Given the description of an element on the screen output the (x, y) to click on. 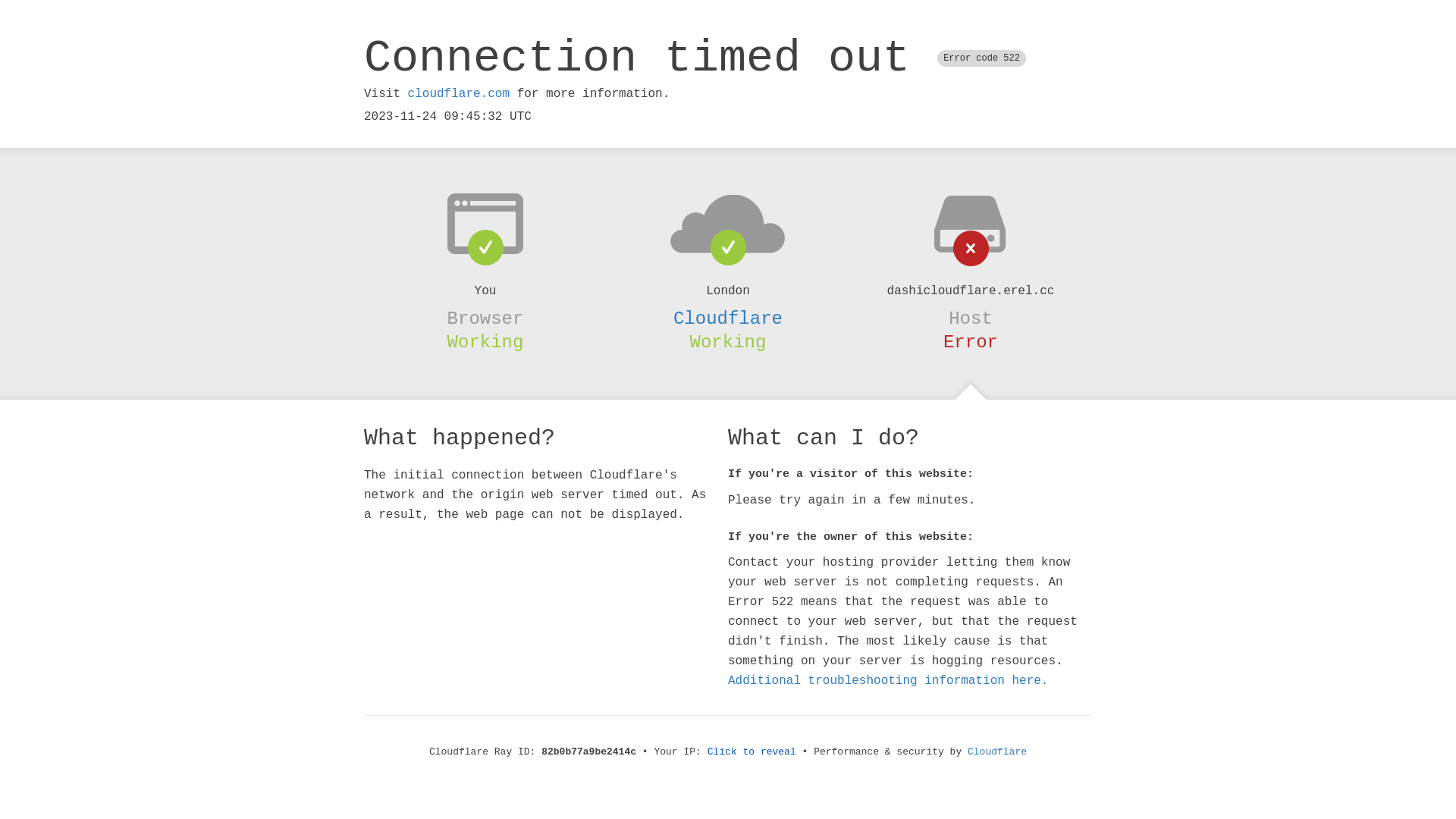
Cloudflare Element type: text (996, 751)
Additional troubleshooting information here. Element type: text (888, 680)
Click to reveal Element type: text (751, 751)
Cloudflare Element type: text (727, 318)
cloudflare.com Element type: text (458, 93)
